Given the description of an element on the screen output the (x, y) to click on. 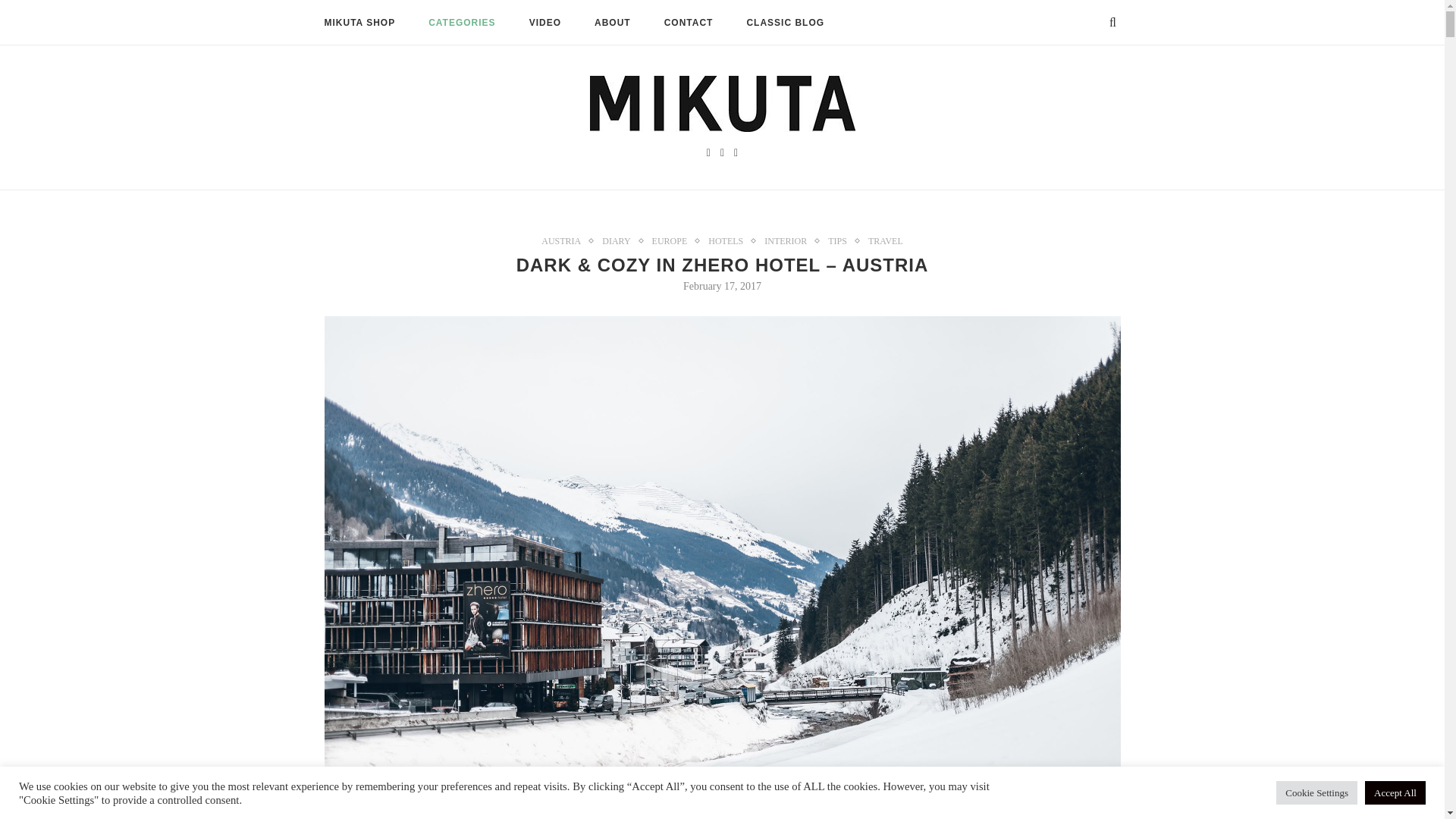
View all posts in HOTELS (729, 240)
View all posts in TRAVEL (884, 240)
View all posts in INTERIOR (788, 240)
View all posts in TIPS (841, 240)
View all posts in AUSTRIA (564, 240)
View all posts in DIARY (619, 240)
View all posts in EUROPE (673, 240)
